Given the description of an element on the screen output the (x, y) to click on. 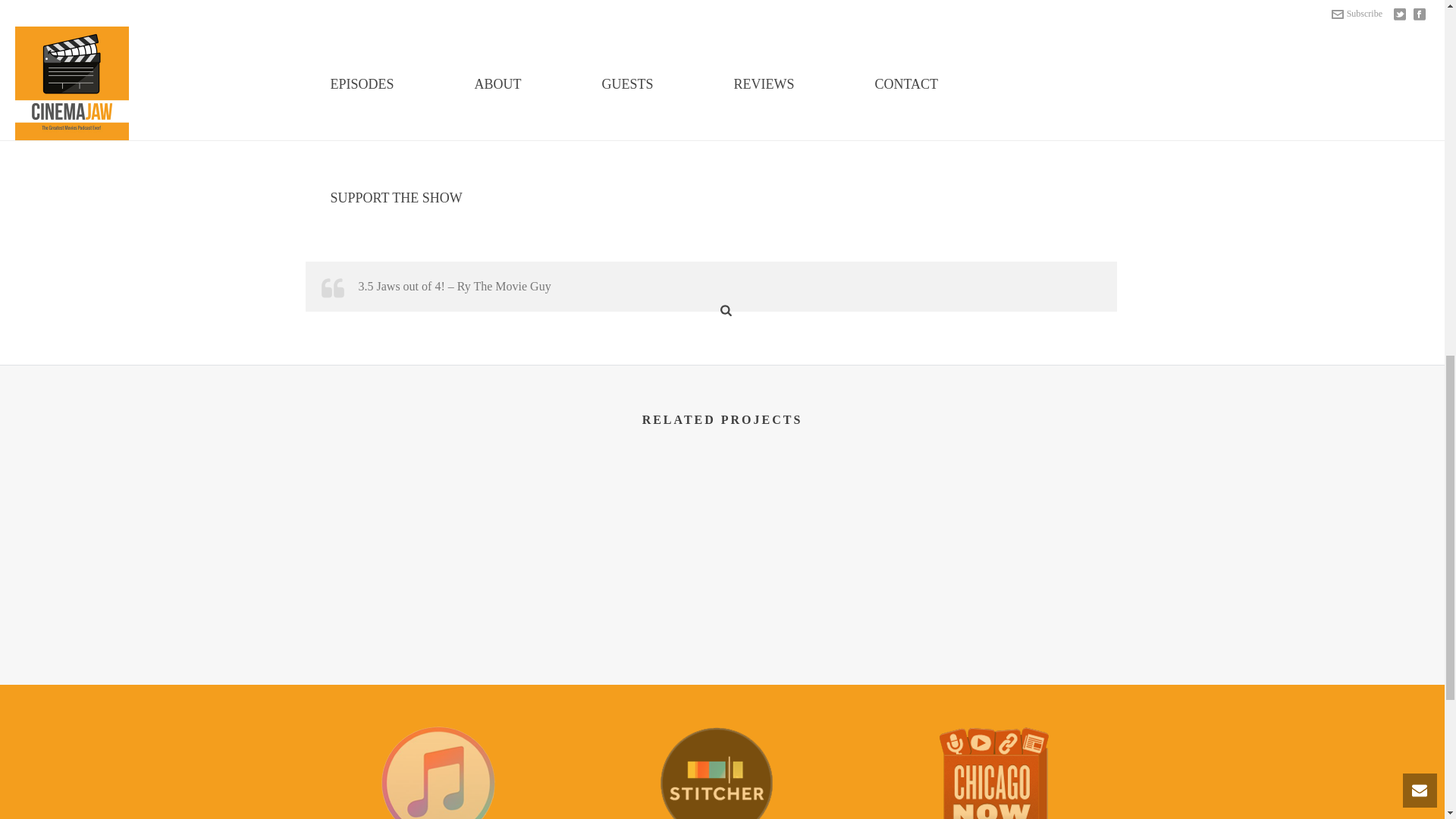
Transit : A Bite Sized Review from CinemaJaw (1046, 552)
Me and Earl and the Dying Girl (721, 5)
Can You Ever Forgive Me (397, 552)
The Old Man and the Gun (614, 552)
Animal : A Bite Sized Review from CinemaJaw (829, 552)
